Given the description of an element on the screen output the (x, y) to click on. 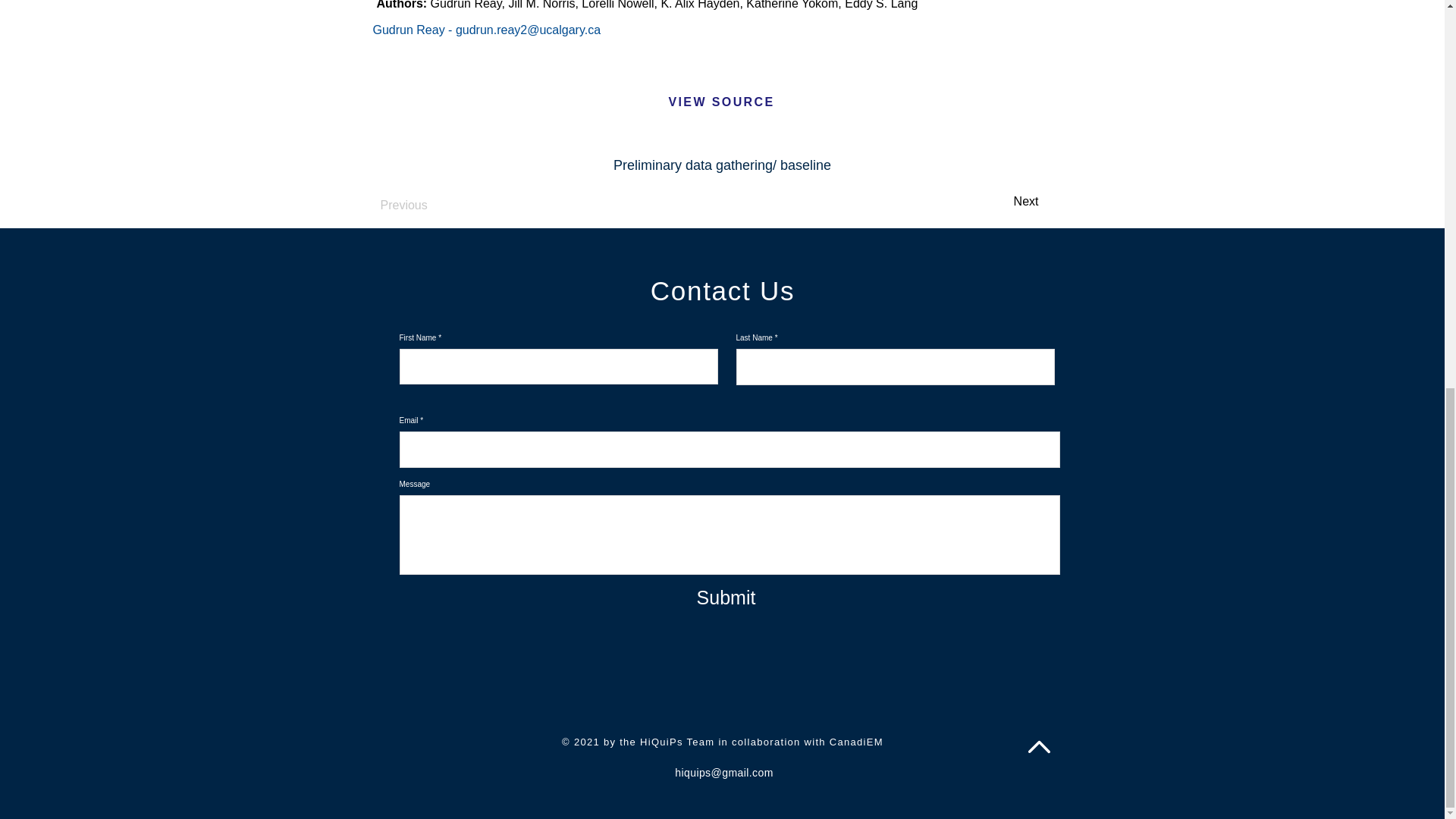
VIEW SOURCE (720, 101)
Next (1000, 201)
Previous (430, 205)
Submit (724, 597)
